Given the description of an element on the screen output the (x, y) to click on. 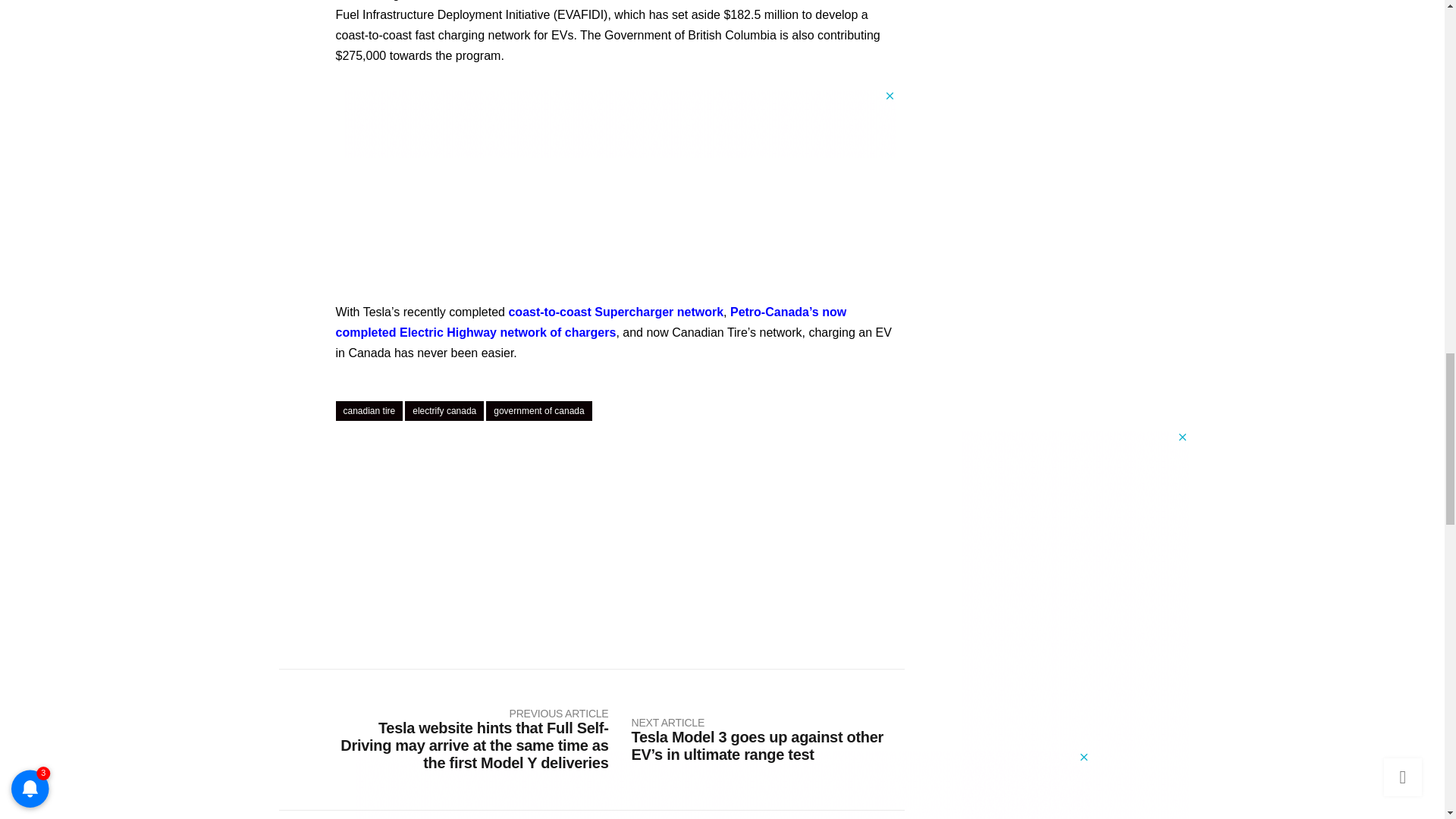
electrify canada (443, 410)
3rd party ad content (619, 123)
coast-to-coast Supercharger network (615, 310)
canadian tire (368, 410)
government of canada (538, 410)
